Given the description of an element on the screen output the (x, y) to click on. 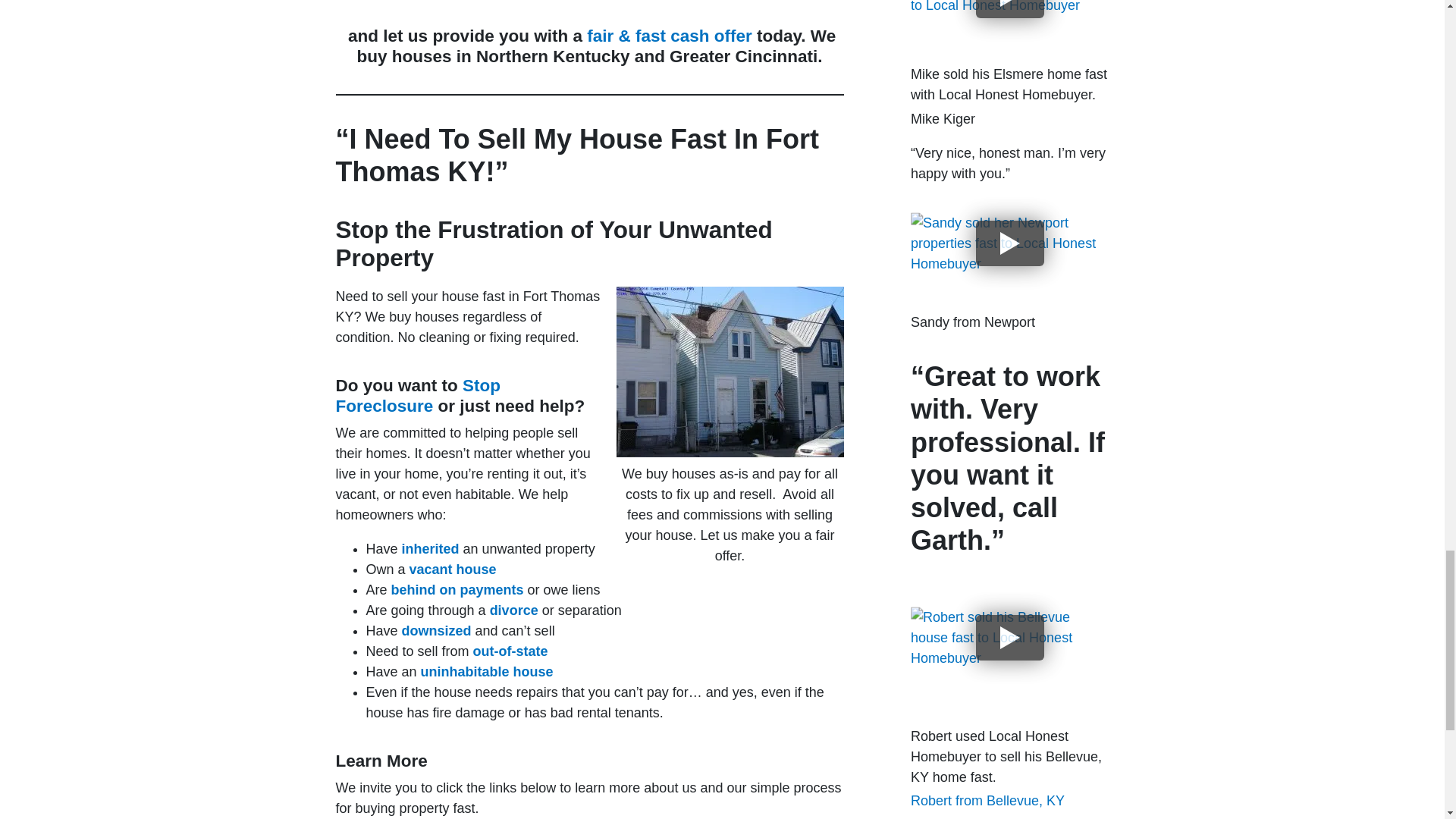
downsized (436, 630)
Stop Foreclosure (417, 395)
vacant house (452, 569)
out-of-state (510, 651)
inherited (430, 548)
uninhabitable house (486, 671)
divorce (513, 610)
behind on payments (457, 589)
